Given the description of an element on the screen output the (x, y) to click on. 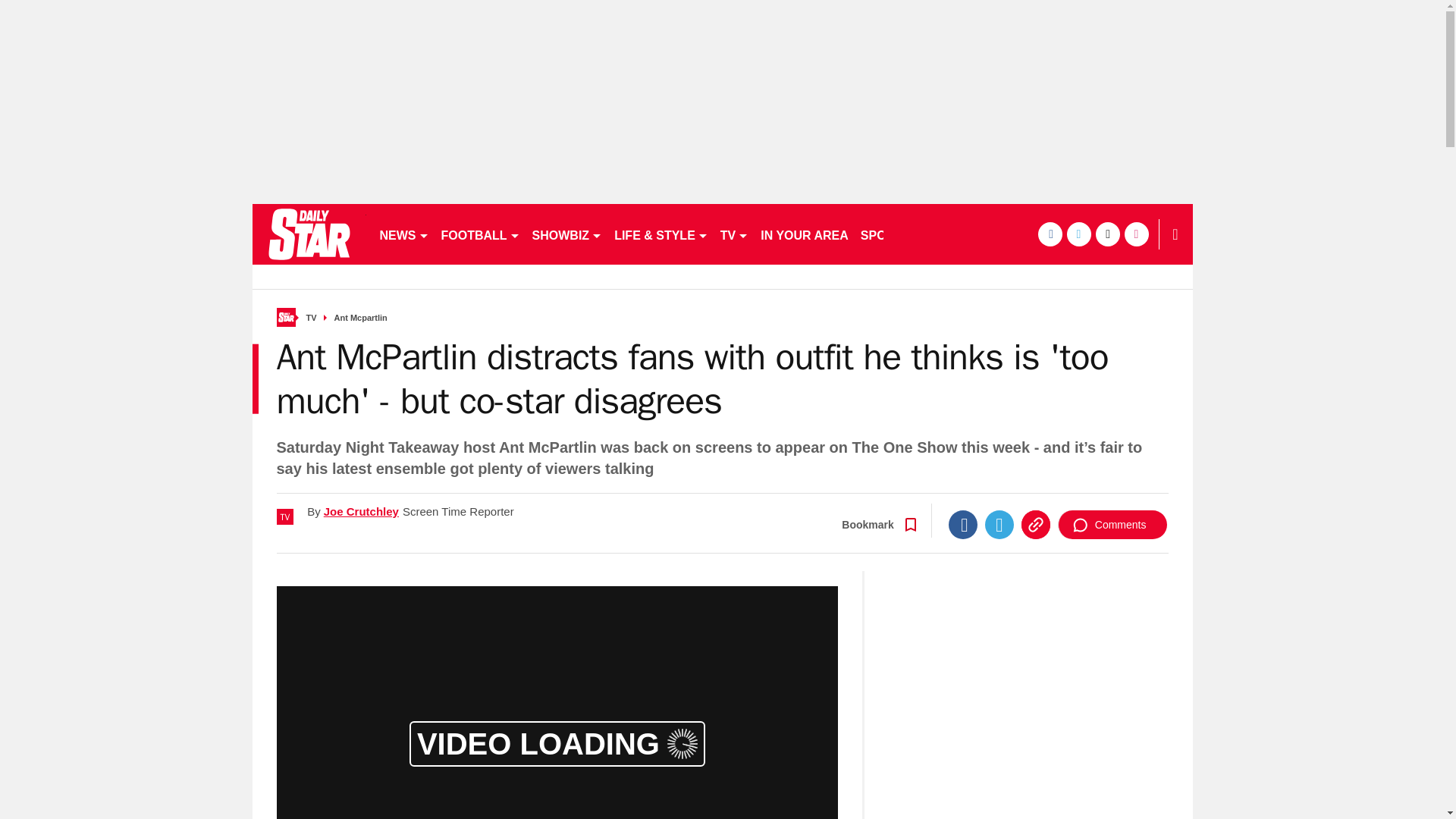
tiktok (1106, 233)
FOOTBALL (480, 233)
Facebook (962, 524)
Comments (1112, 524)
facebook (1048, 233)
twitter (1077, 233)
instagram (1136, 233)
dailystar (308, 233)
SHOWBIZ (566, 233)
Twitter (999, 524)
